Given the description of an element on the screen output the (x, y) to click on. 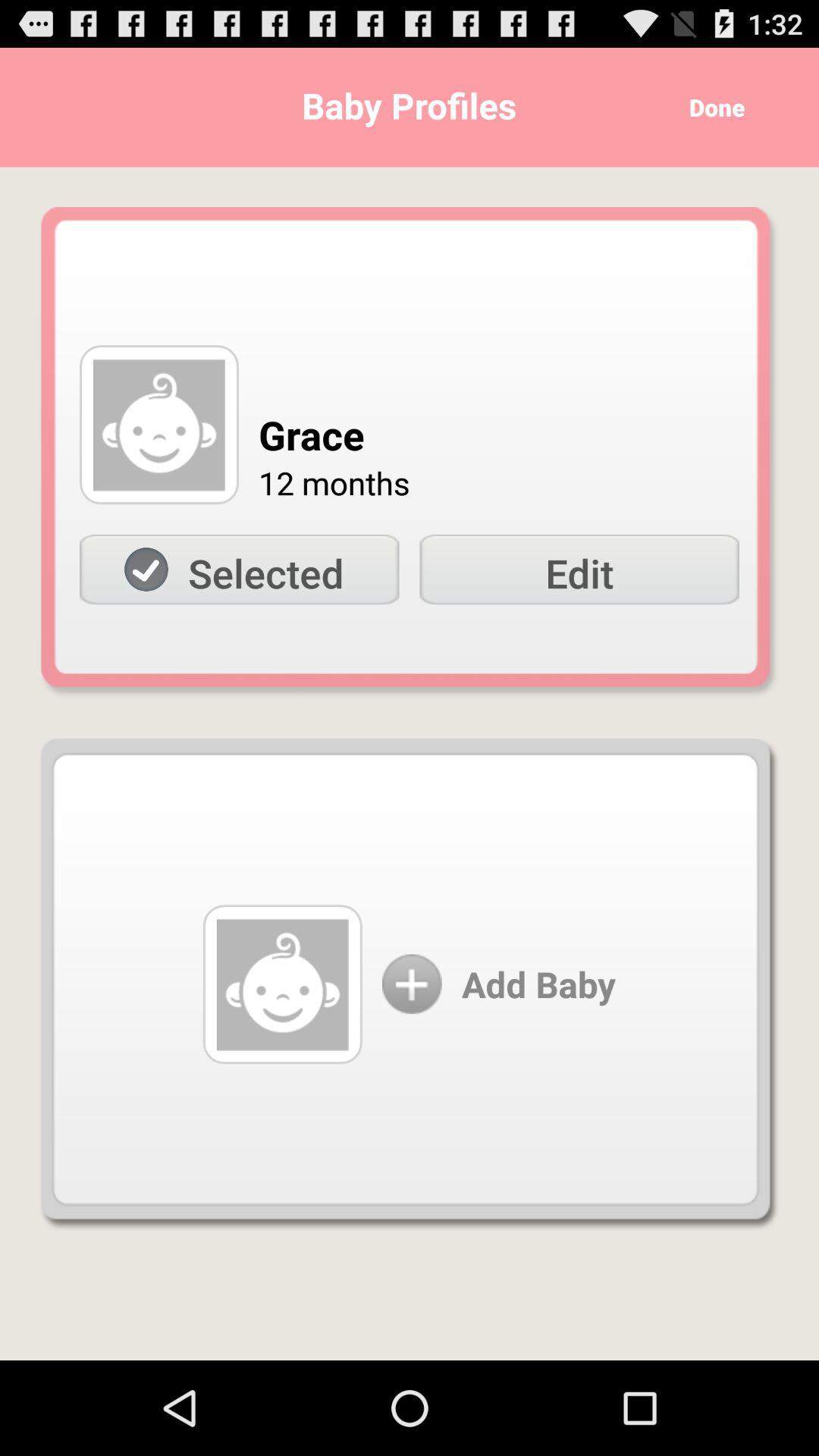
press the icon next to the selected (579, 569)
